Given the description of an element on the screen output the (x, y) to click on. 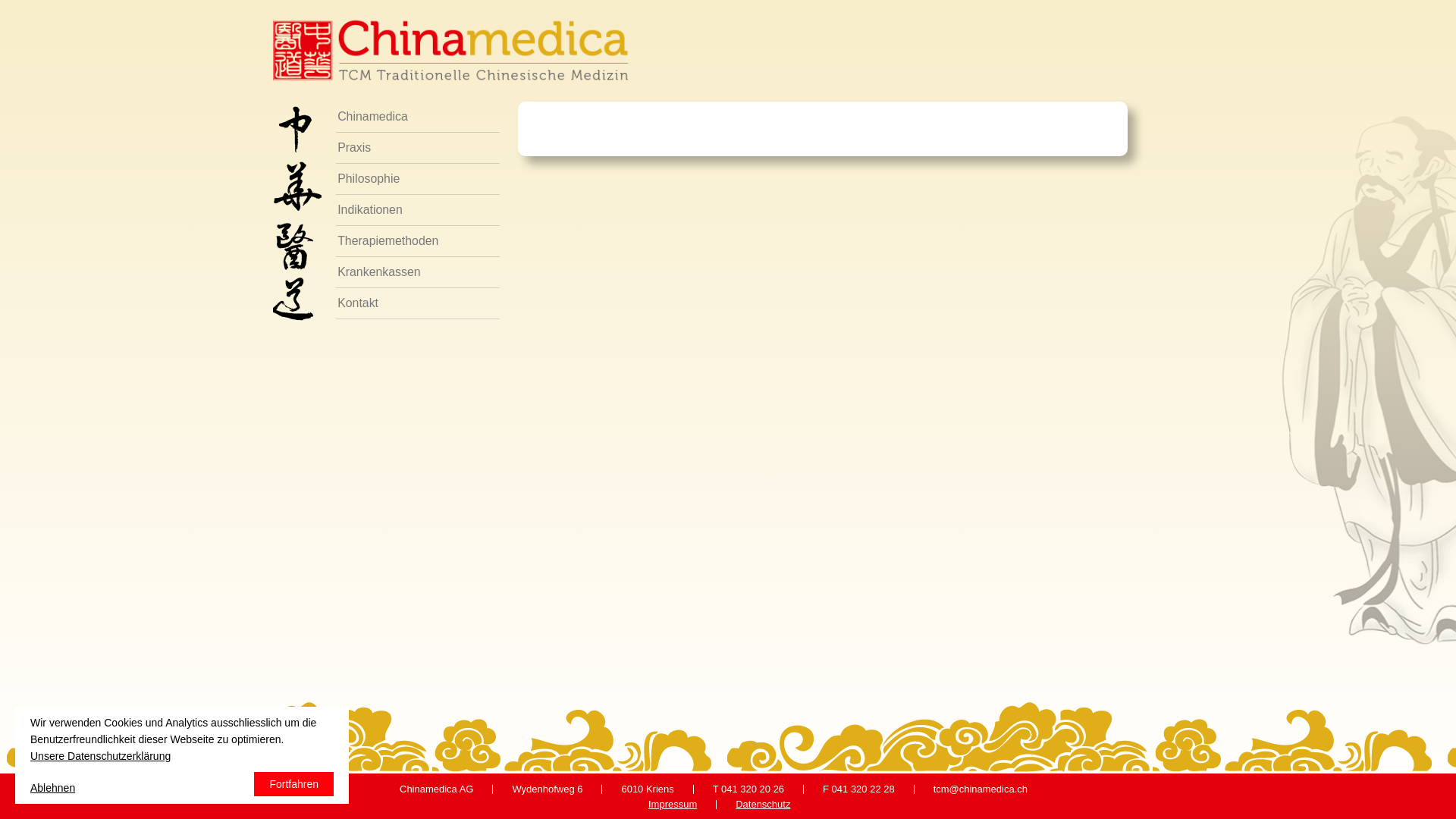
Impressum Element type: text (672, 803)
Kontakt Element type: text (417, 303)
Datenschutz Element type: text (762, 803)
Chinamedica Element type: text (417, 116)
Indikationen Element type: text (417, 209)
Therapiemethoden Element type: text (417, 241)
Krankenkassen Element type: text (417, 272)
Philosophie Element type: text (417, 178)
Praxis Element type: text (417, 147)
